Given the description of an element on the screen output the (x, y) to click on. 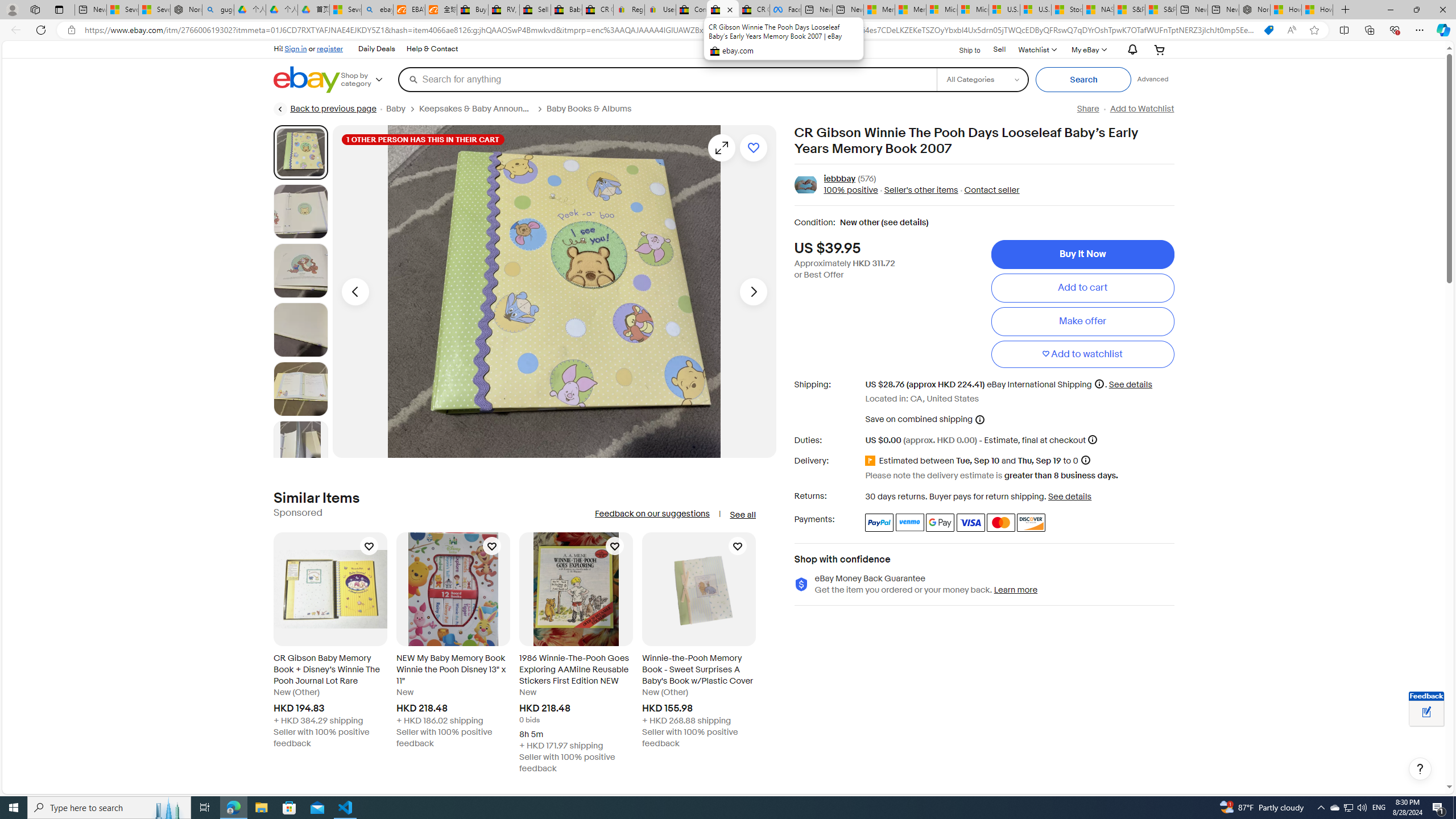
Sign in (295, 48)
Add to cart (1082, 287)
iebbbay (840, 179)
See details for shipping (1130, 383)
Split screen (1344, 29)
Baby Books & Albums (588, 108)
eBay Home (306, 79)
Facebook (785, 9)
Add to watchlist (1082, 353)
100% positive (850, 190)
Picture 4 of 22 (300, 329)
Search (1083, 79)
